Given the description of an element on the screen output the (x, y) to click on. 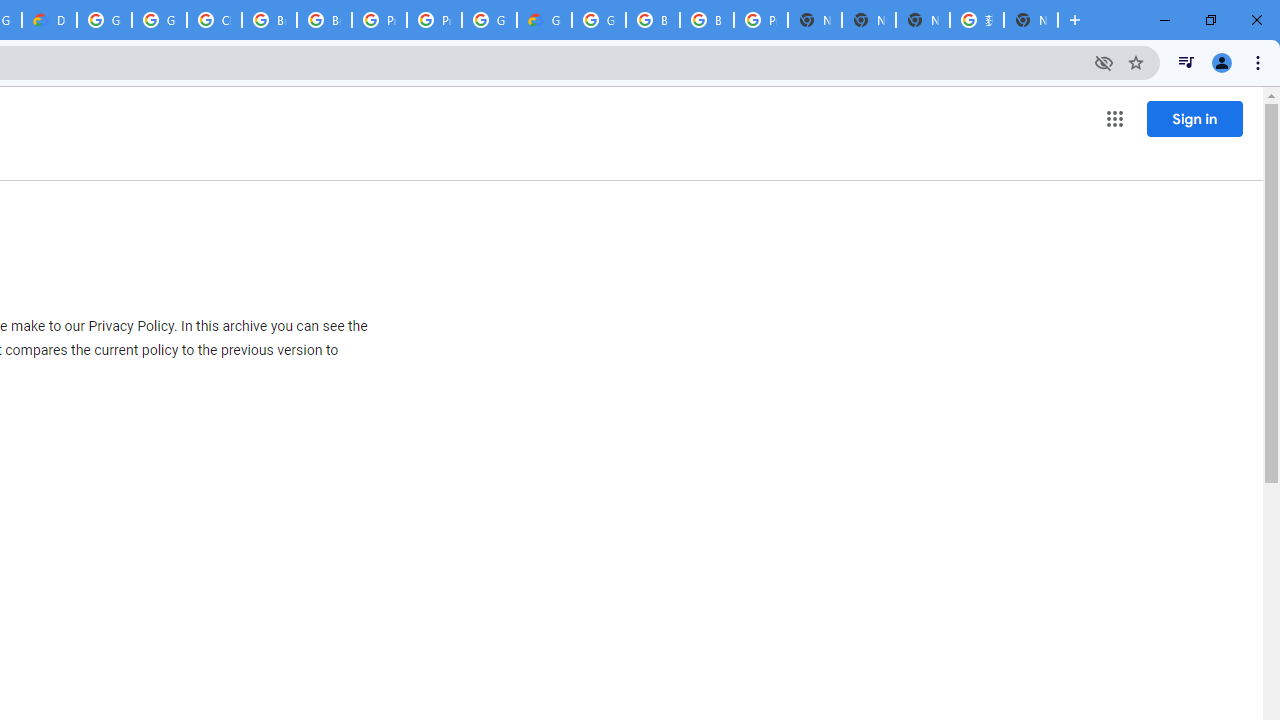
Google Cloud Platform (103, 20)
Google Cloud Platform (489, 20)
